Given the description of an element on the screen output the (x, y) to click on. 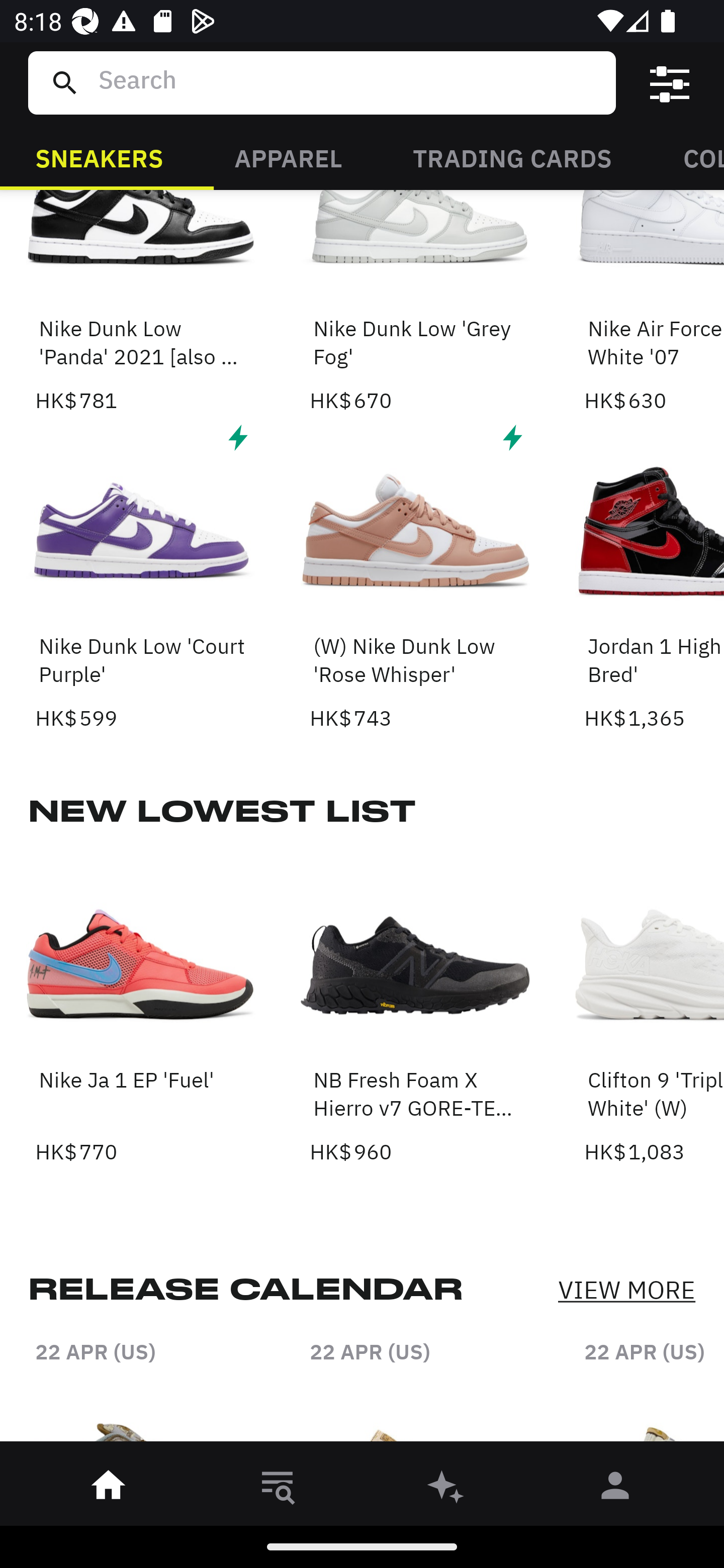
Search (349, 82)
 (669, 82)
SNEAKERS (99, 156)
APPAREL (287, 156)
TRADING CARDS (512, 156)
Nike Dunk Low 'Grey Fog' HK$ 670 (414, 303)
Nike Air Force 1 Low White '07 HK$ 630 (654, 303)
 Nike Dunk Low 'Court Purple' HK$ 599 (140, 576)
 (W) Nike Dunk Low 'Rose Whisper' HK$ 743 (414, 576)
Jordan 1 High 'Patent Bred' HK$ 1,365 (654, 576)
Nike Ja 1 EP 'Fuel' HK$ 770 (140, 1009)
Clifton 9 'Triple White' (W) HK$ 1,083 (654, 1009)
VIEW MORE (626, 1290)
󰋜 (108, 1488)
󱎸 (277, 1488)
󰫢 (446, 1488)
󰀄 (615, 1488)
